Given the description of an element on the screen output the (x, y) to click on. 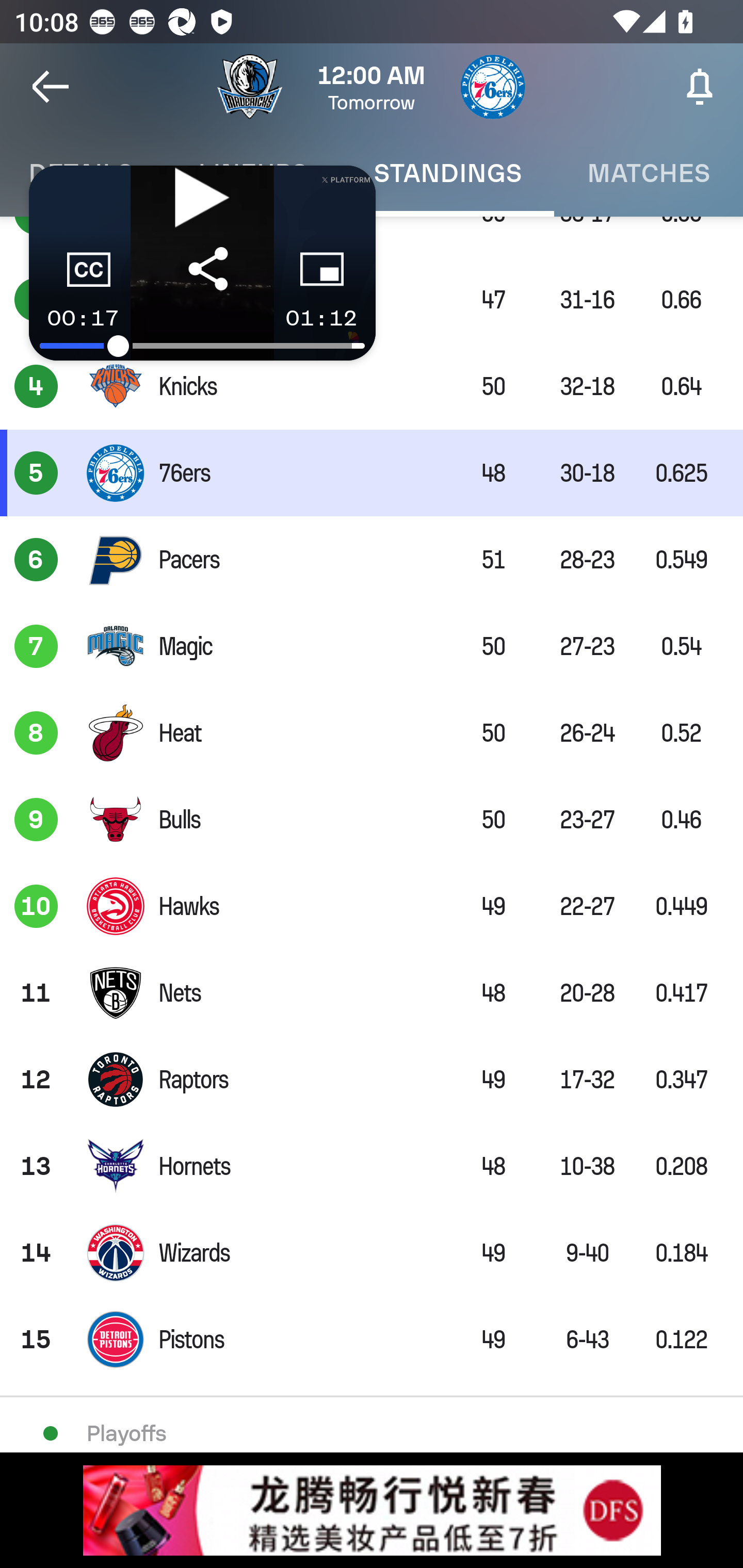
Navigate up (50, 86)
Matches MATCHES (648, 173)
4 Knicks 50 32-18 0.64 (371, 386)
4 (36, 386)
5 76ers 48 30-18 0.625 (371, 472)
5 (36, 472)
6 Pacers 51 28-23 0.549 (371, 559)
6 (36, 559)
7 Magic 50 27-23 0.54 (371, 646)
7 (36, 646)
8 Heat 50 26-24 0.52 (371, 732)
8 (36, 732)
9 Bulls 50 23-27 0.46 (371, 819)
9 (36, 819)
10 Hawks 49 22-27 0.449 (371, 906)
10 (36, 906)
11 Nets 48 20-28 0.417 (371, 993)
11 (36, 993)
12 Raptors 49 17-32 0.347 (371, 1079)
12 (36, 1079)
13 Hornets 48 10-38 0.208 (371, 1165)
13 (36, 1165)
14 Wizards 49 9-40 0.184 (371, 1252)
14 (36, 1252)
15 Pistons 49 6-43 0.122 (371, 1339)
15 (36, 1339)
Playoffs (371, 1431)
